Given the description of an element on the screen output the (x, y) to click on. 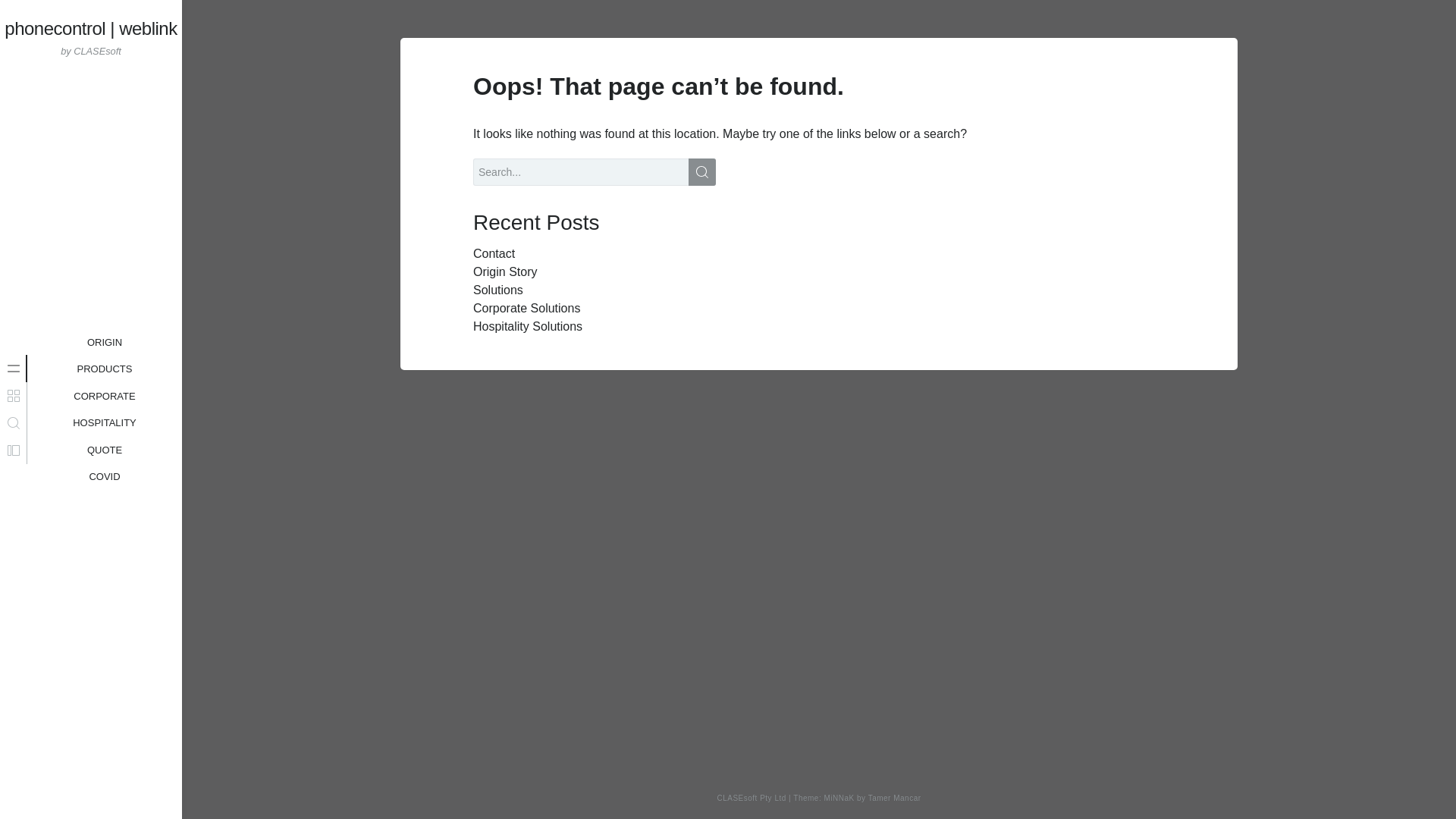
Contact (494, 253)
Search for: (594, 171)
ORIGIN (104, 342)
Tamer Mancar (894, 797)
Corporate Solutions (526, 308)
Hospitality Solutions (527, 326)
Solutions (497, 289)
COVID (103, 476)
PRODUCTS (104, 369)
Origin Story (505, 271)
CORPORATE (104, 409)
QUOTE (103, 396)
HOSPITALITY (104, 450)
